Given the description of an element on the screen output the (x, y) to click on. 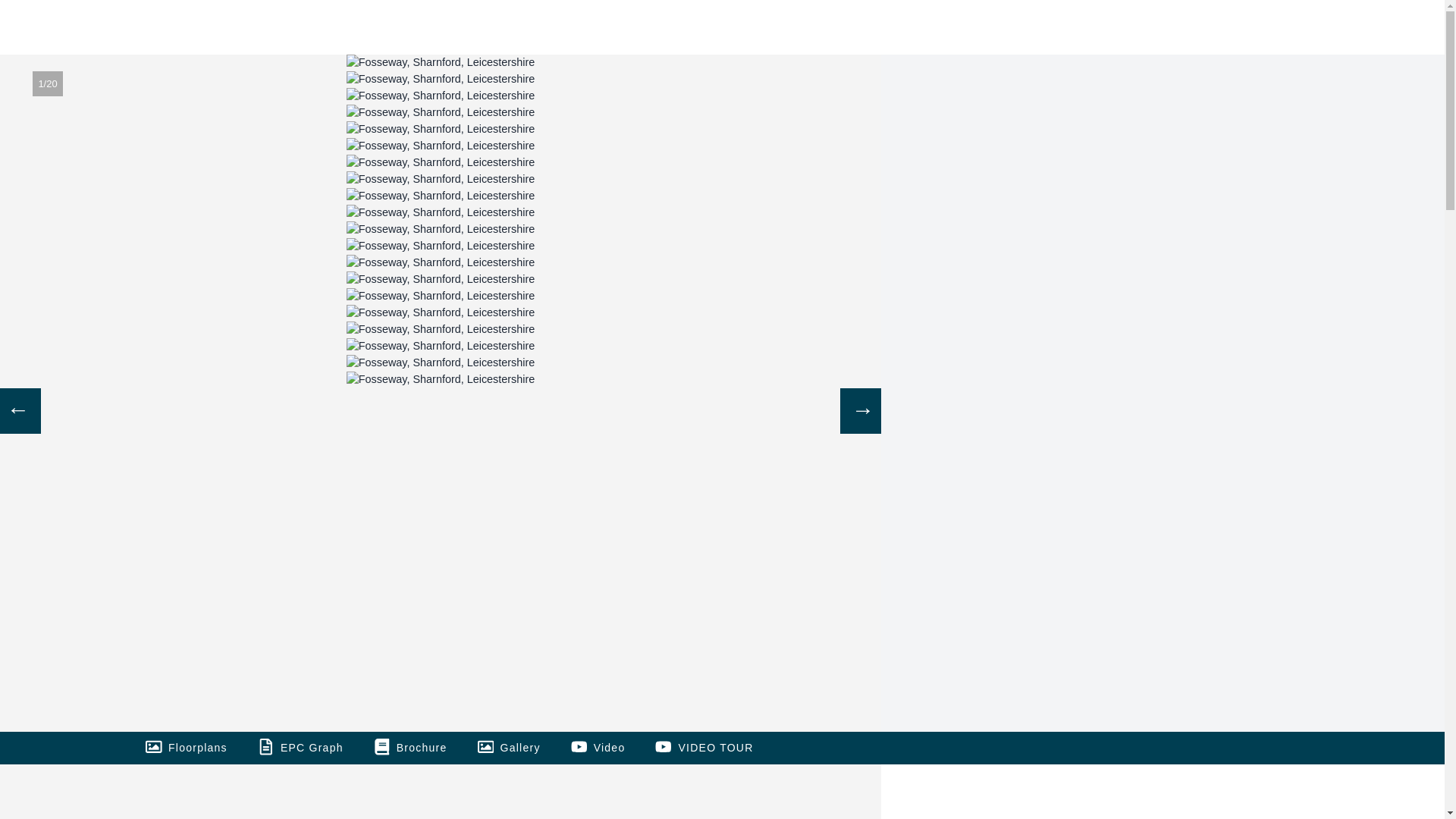
Brochure (421, 747)
Floorplans (197, 747)
Video (610, 747)
Gallery (520, 747)
VIDEO TOUR (715, 747)
EPC Graph (312, 747)
